Given the description of an element on the screen output the (x, y) to click on. 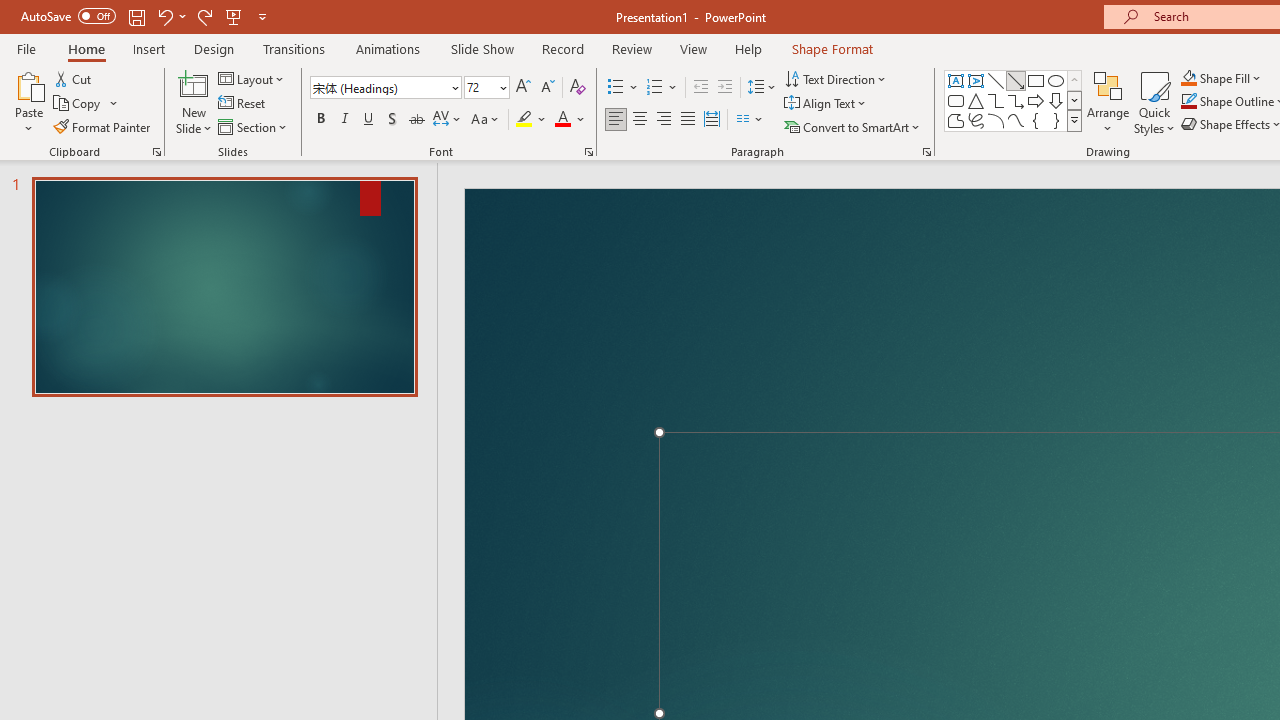
Line (995, 80)
Bold (320, 119)
Rectangle (1035, 80)
Clear Formatting (577, 87)
Align Right (663, 119)
Open (502, 87)
Freeform: Shape (955, 120)
Numbering (661, 87)
Font Size (480, 87)
